Given the description of an element on the screen output the (x, y) to click on. 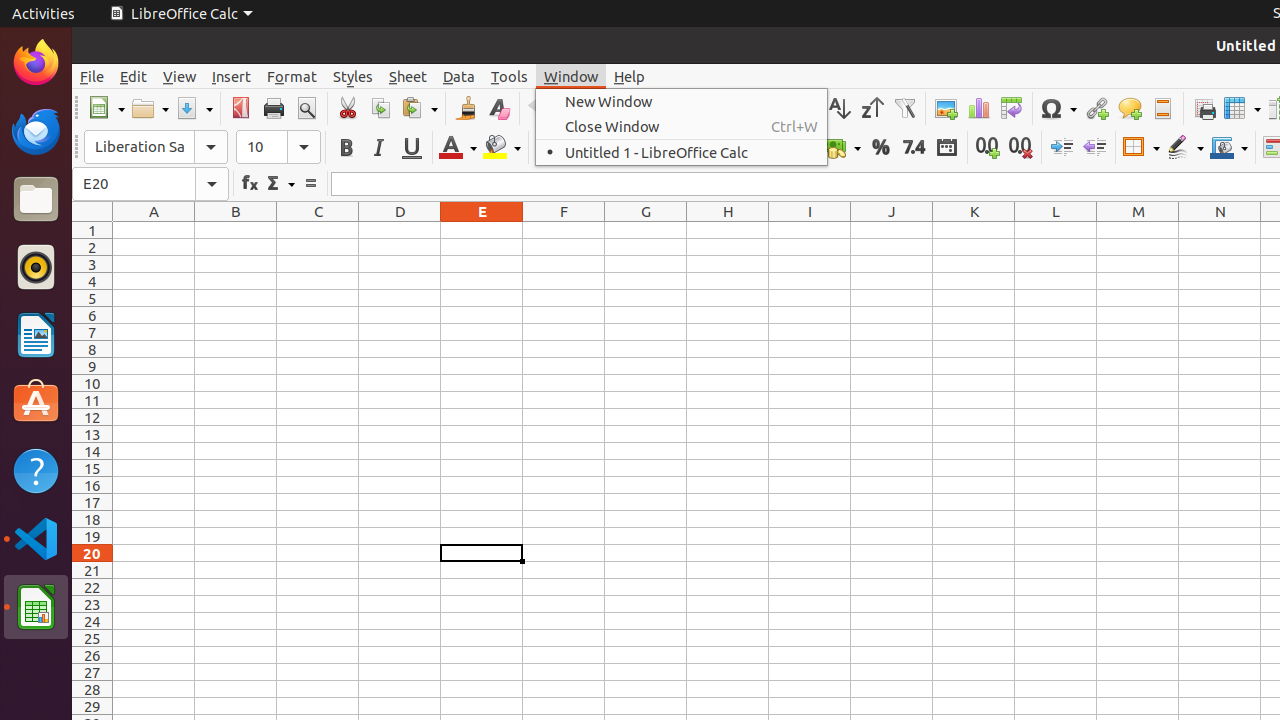
Edit Element type: menu (133, 76)
Font Size Element type: combo-box (278, 147)
Close Window Element type: menu-item (681, 126)
Files Element type: push-button (36, 199)
Data Element type: menu (459, 76)
